Given the description of an element on the screen output the (x, y) to click on. 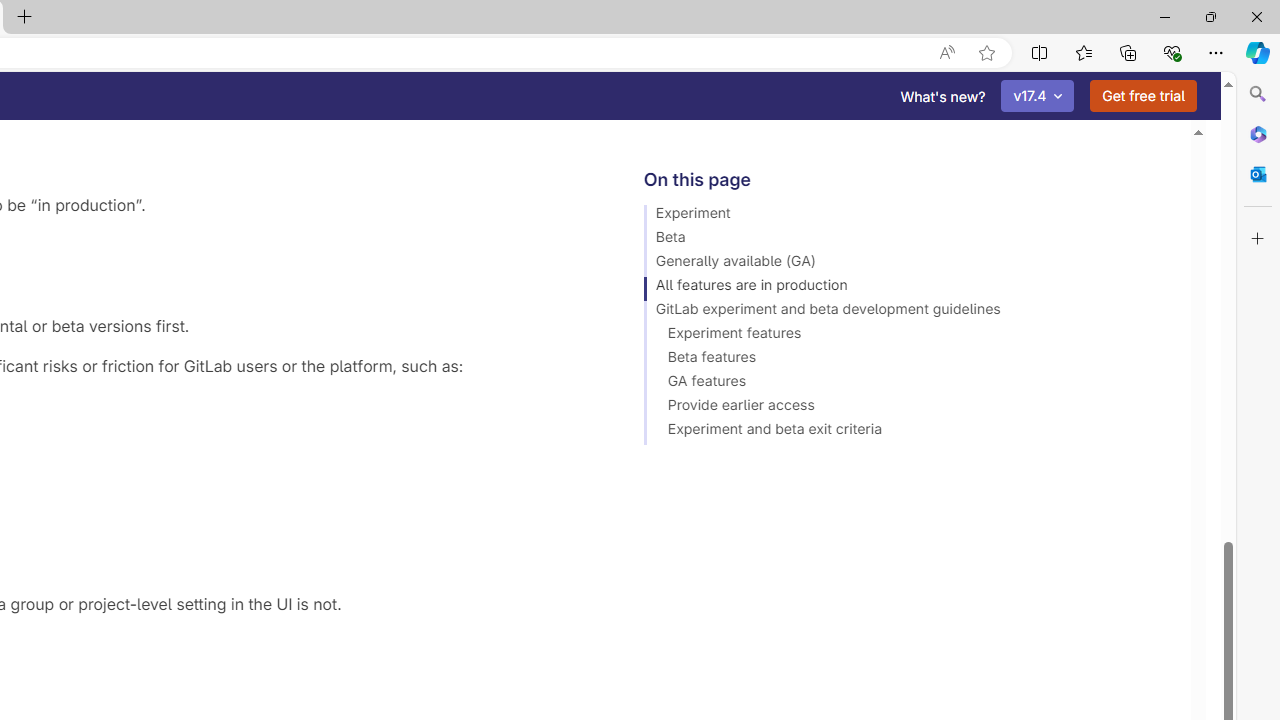
Experiment (908, 215)
v17.4 (1037, 95)
All features are in production (908, 287)
What's new? (943, 96)
Beta (908, 240)
Experiment (908, 215)
Generally available (GA) (908, 264)
GitLab experiment and beta development guidelines (908, 312)
Beta features (908, 359)
What's new? (943, 96)
Provide earlier access (908, 408)
